Given the description of an element on the screen output the (x, y) to click on. 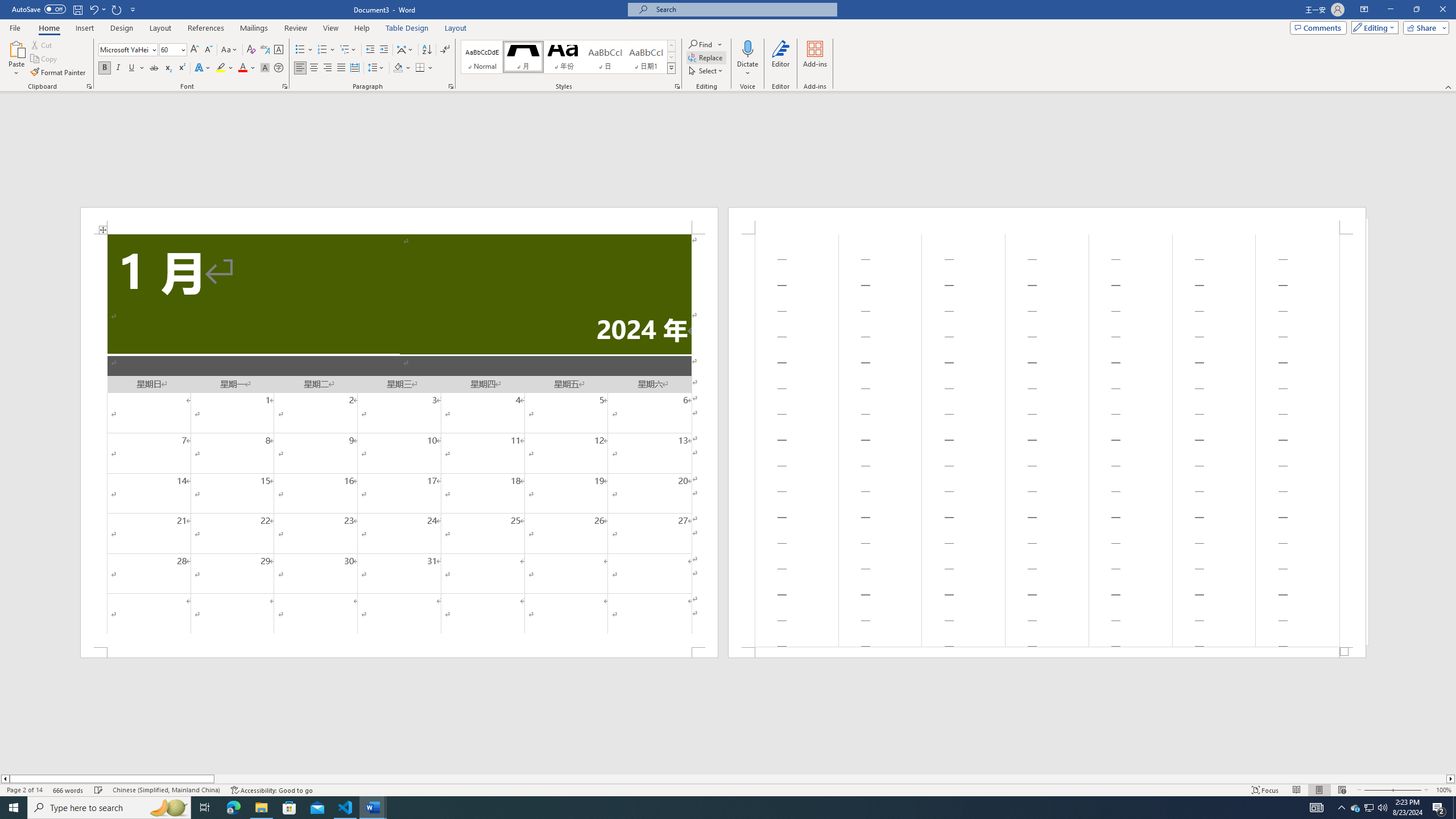
Page 2 content (1046, 440)
Cut (42, 44)
Find (705, 44)
References (205, 28)
Close (1442, 9)
Collapse the Ribbon (1448, 86)
Row up (670, 45)
Styles... (676, 85)
Word Count 666 words (68, 790)
Footer -Section 1- (1046, 652)
Comments (1318, 27)
